Given the description of an element on the screen output the (x, y) to click on. 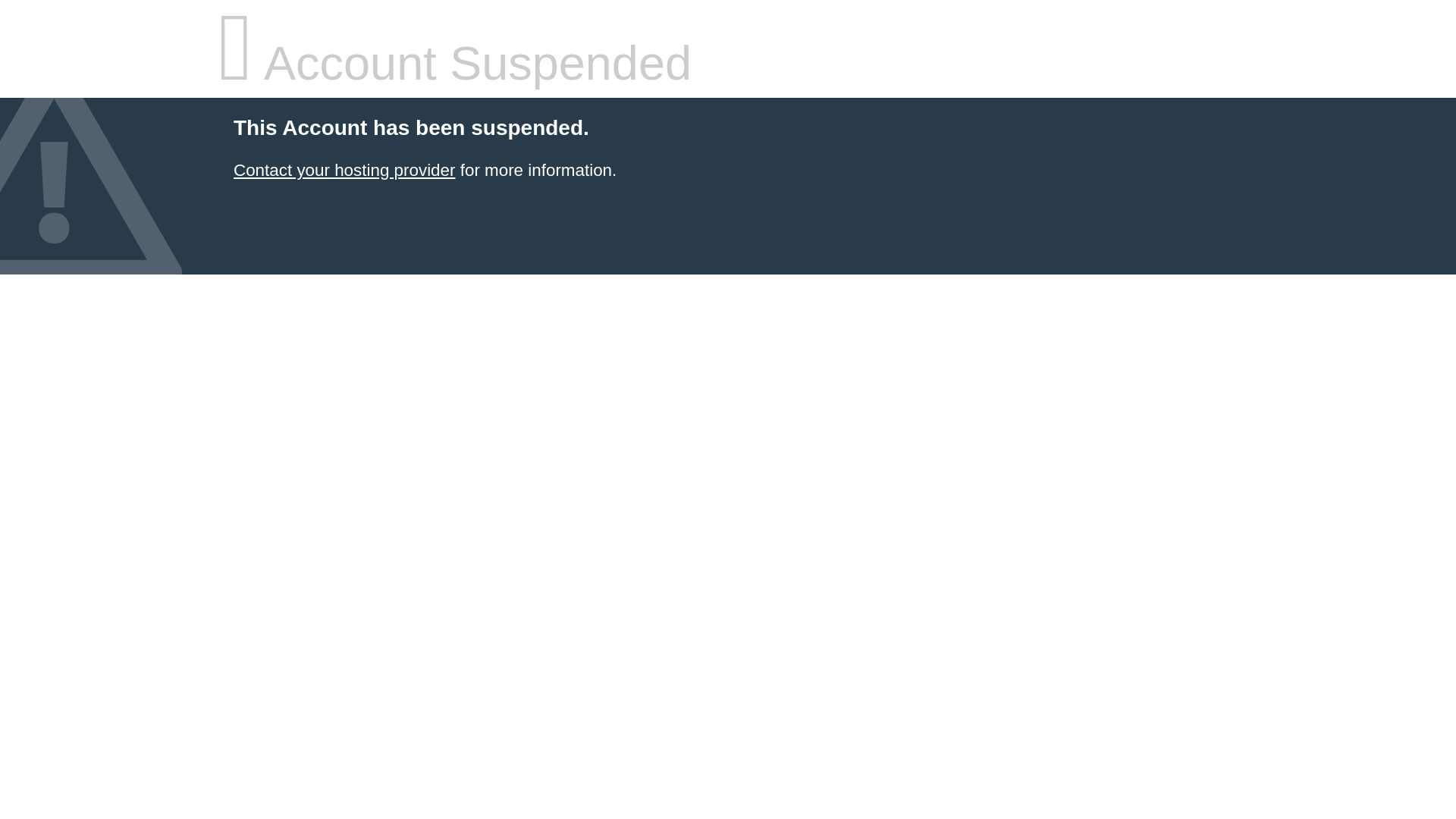
Contact your hosting provider (343, 169)
